Given the description of an element on the screen output the (x, y) to click on. 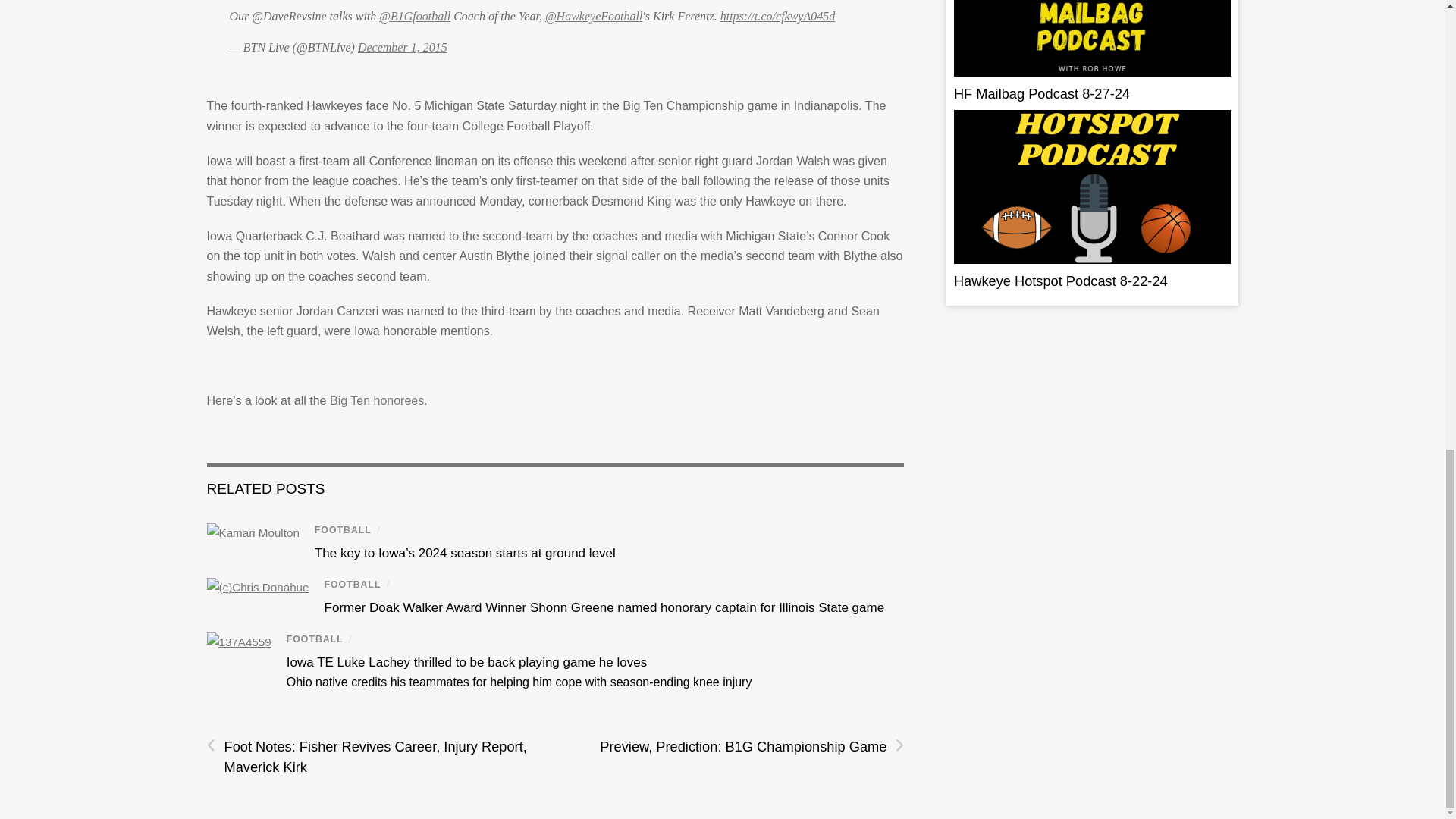
Kamari Moulton (252, 533)
137A4559 (238, 642)
